Given the description of an element on the screen output the (x, y) to click on. 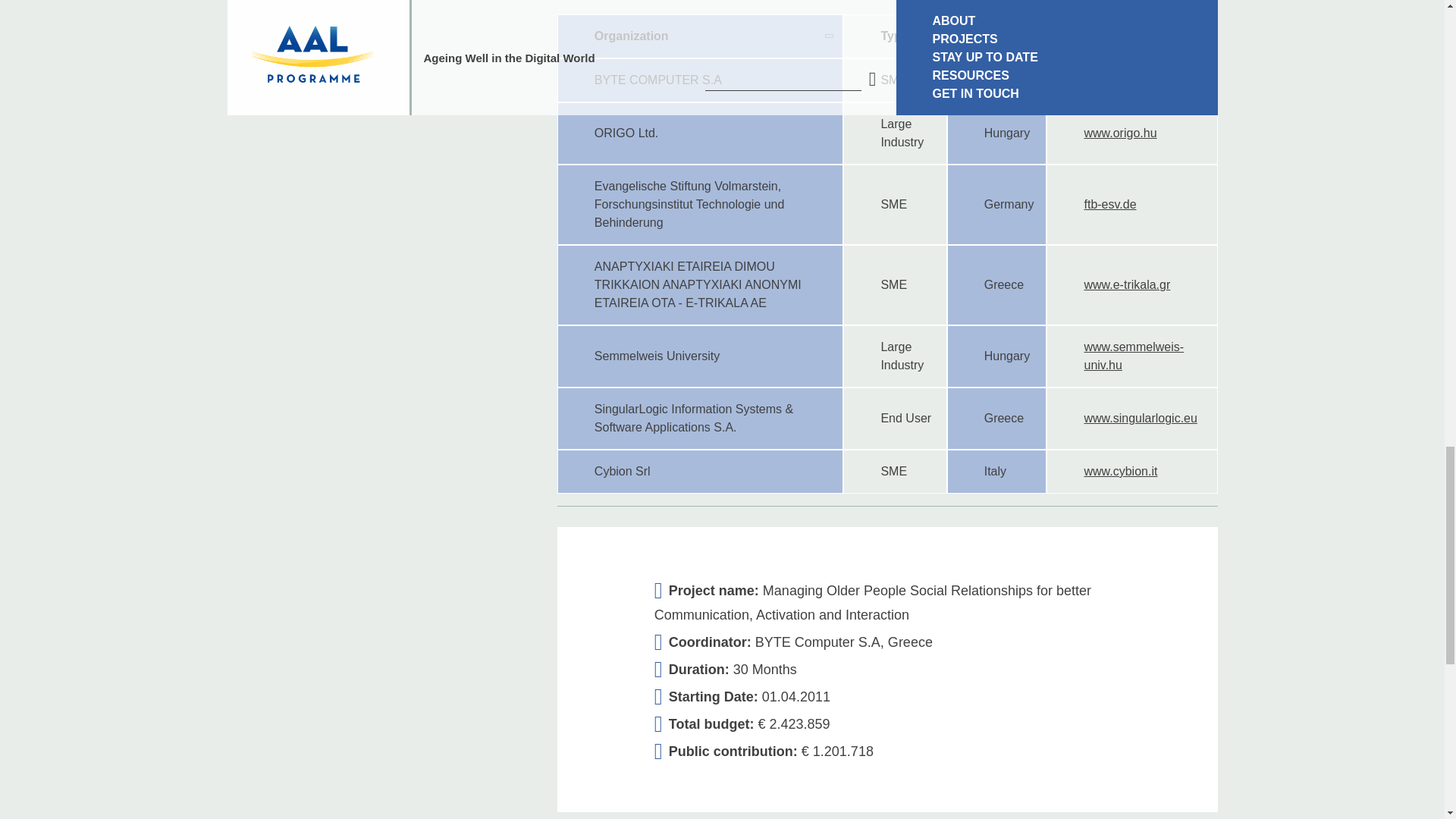
ftb-esv.de (1109, 204)
www.singularlogic.eu (1139, 418)
www.byte.gr (1116, 79)
www.origo.hu (1119, 132)
www.e-trikala.gr (1126, 284)
www.cybion.it (1120, 471)
www.semmelweis-univ.hu (1133, 355)
